Given the description of an element on the screen output the (x, y) to click on. 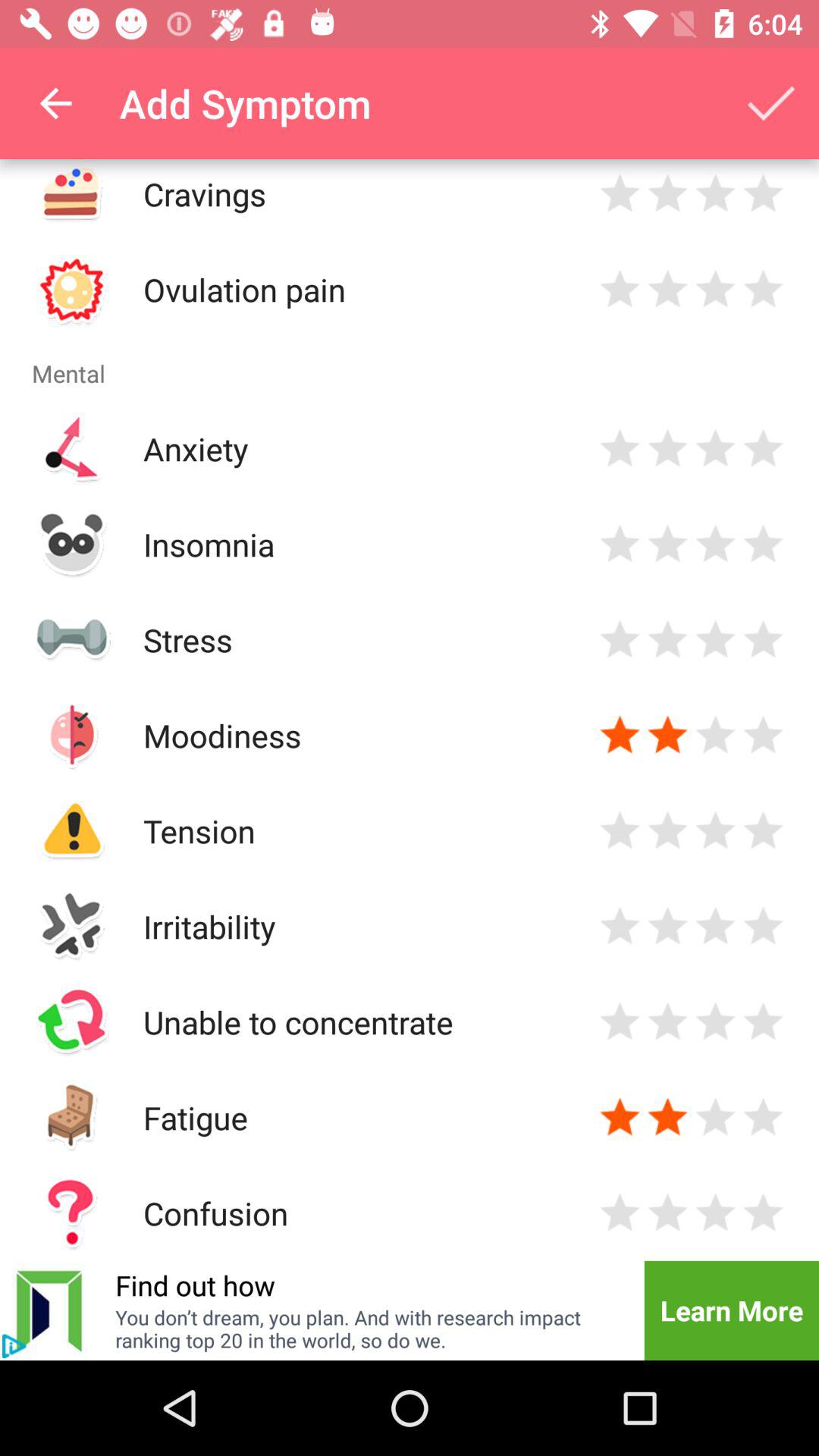
press icon to the left of the learn more (369, 1329)
